Given the description of an element on the screen output the (x, y) to click on. 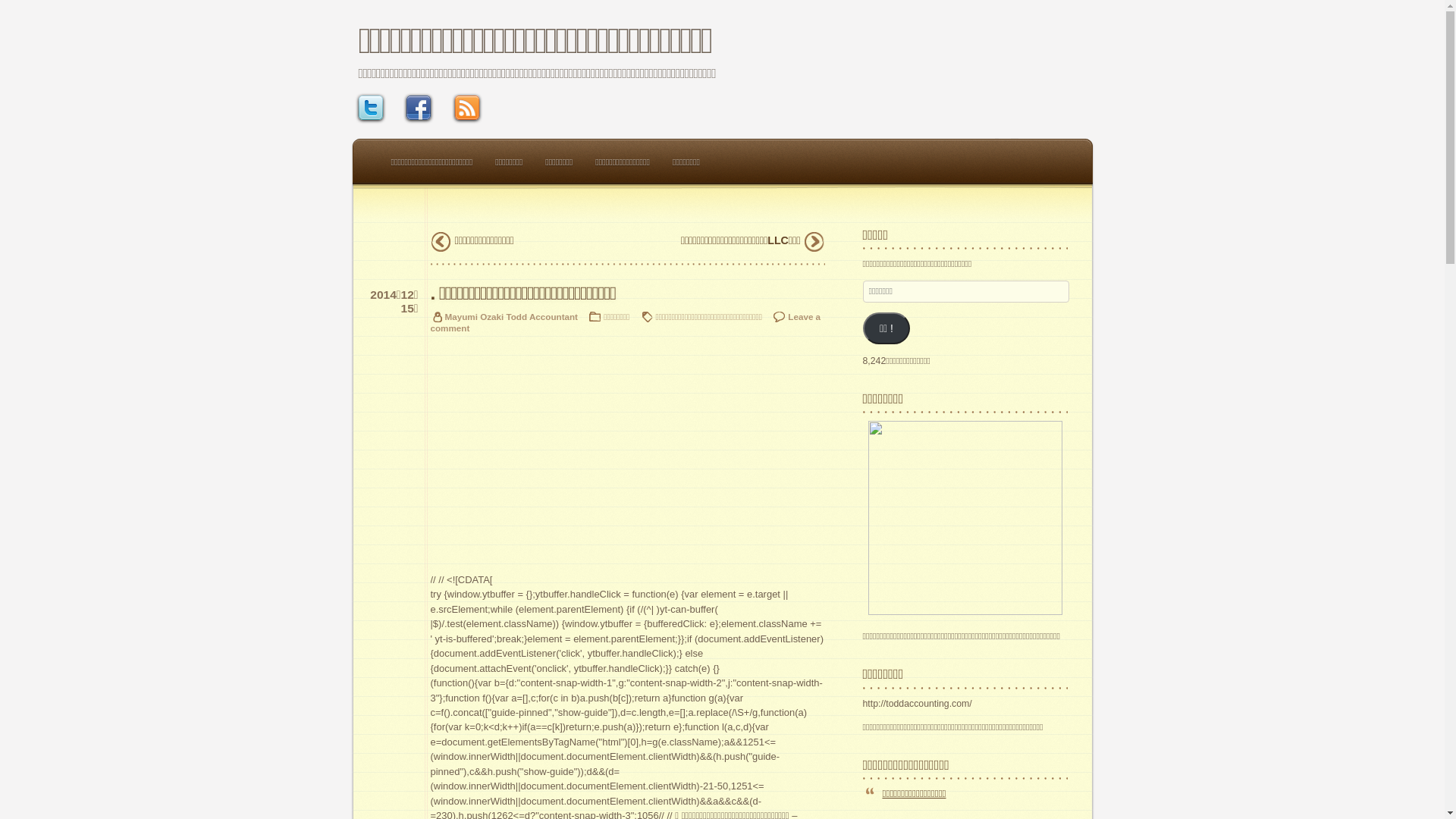
Leave a comment Element type: text (625, 323)
